Given the description of an element on the screen output the (x, y) to click on. 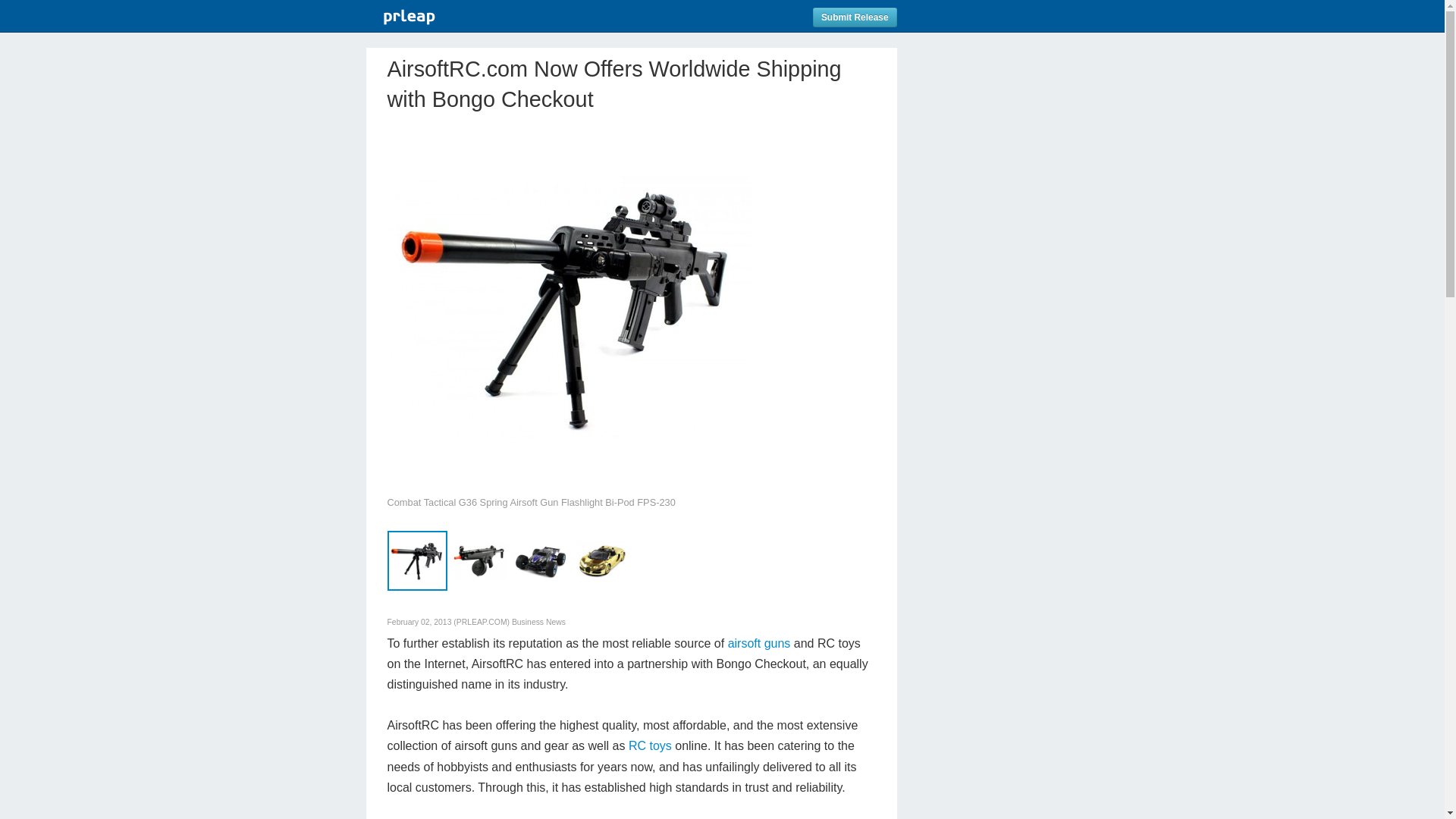
RC toys (649, 745)
airsoft guns (759, 643)
Business News (539, 622)
Submit Release (854, 17)
